Given the description of an element on the screen output the (x, y) to click on. 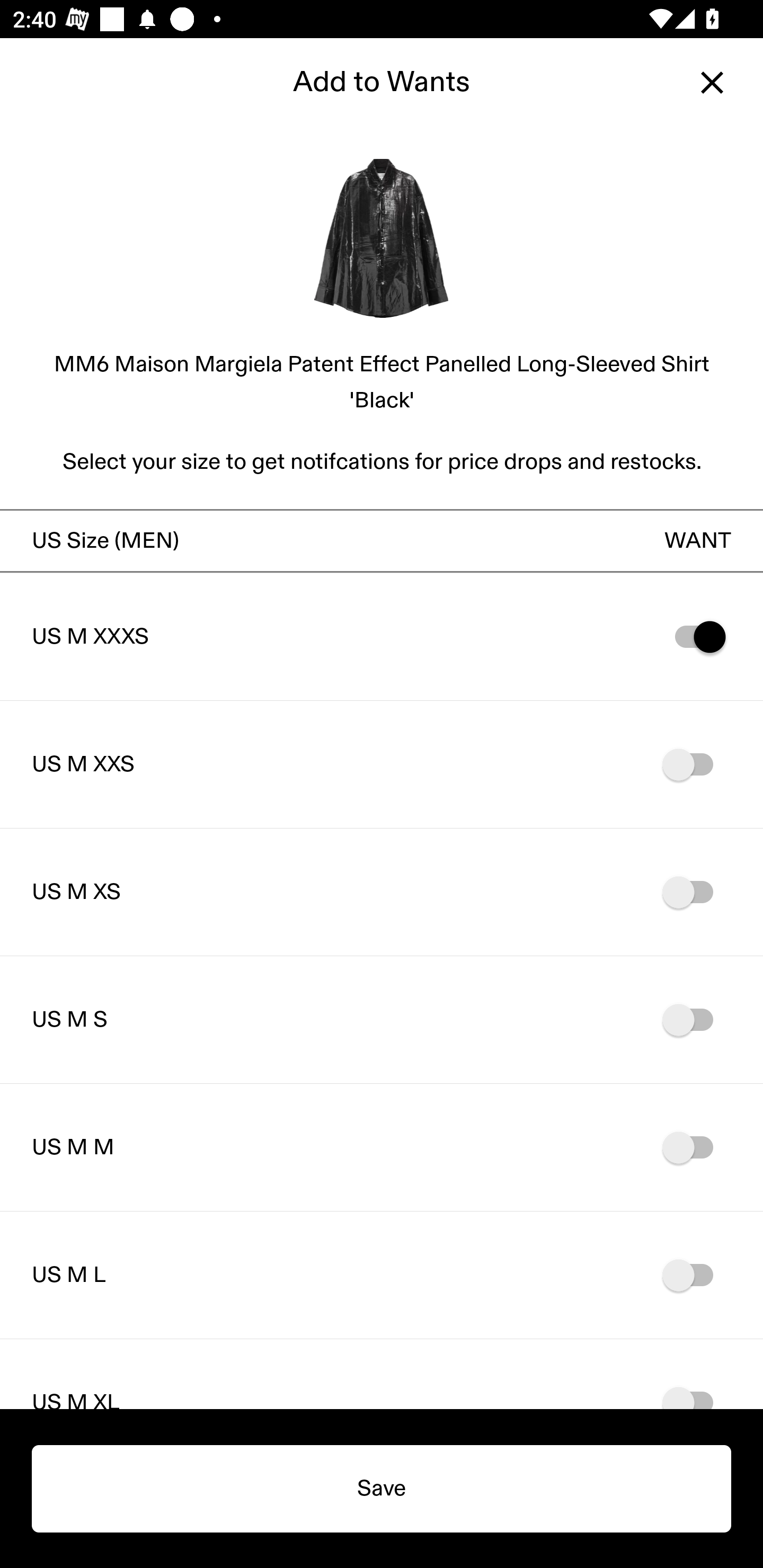
Save (381, 1488)
